Given the description of an element on the screen output the (x, y) to click on. 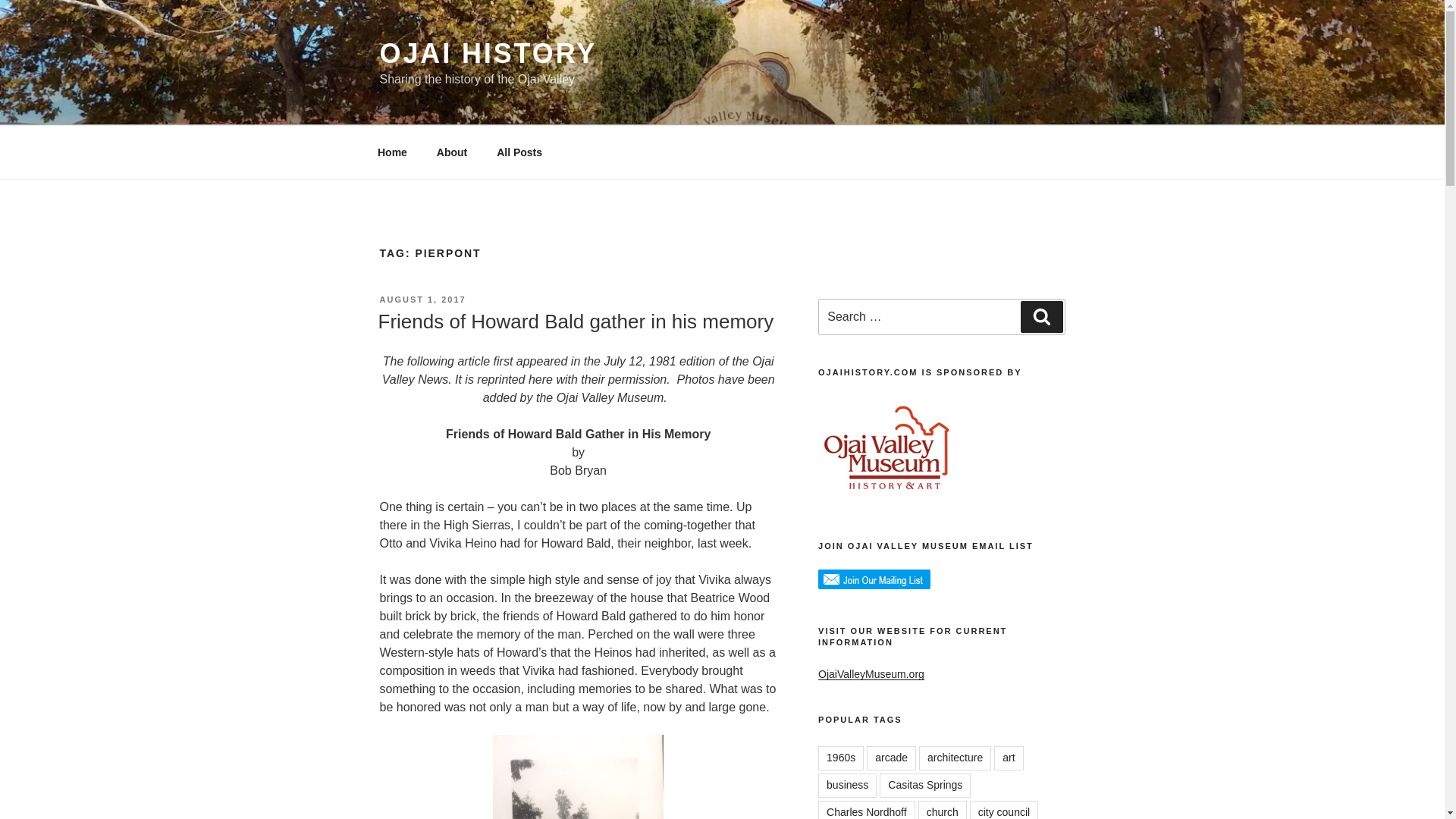
All Posts (519, 151)
art (1008, 758)
Friends of Howard Bald gather in his memory (575, 321)
arcade (890, 758)
city council (1003, 809)
business (847, 785)
1960s (840, 758)
church (942, 809)
OJAI HISTORY (487, 52)
Search (1041, 316)
architecture (954, 758)
About (451, 151)
OjaiValleyMuseum.org (871, 674)
AUGUST 1, 2017 (421, 298)
Home (392, 151)
